Given the description of an element on the screen output the (x, y) to click on. 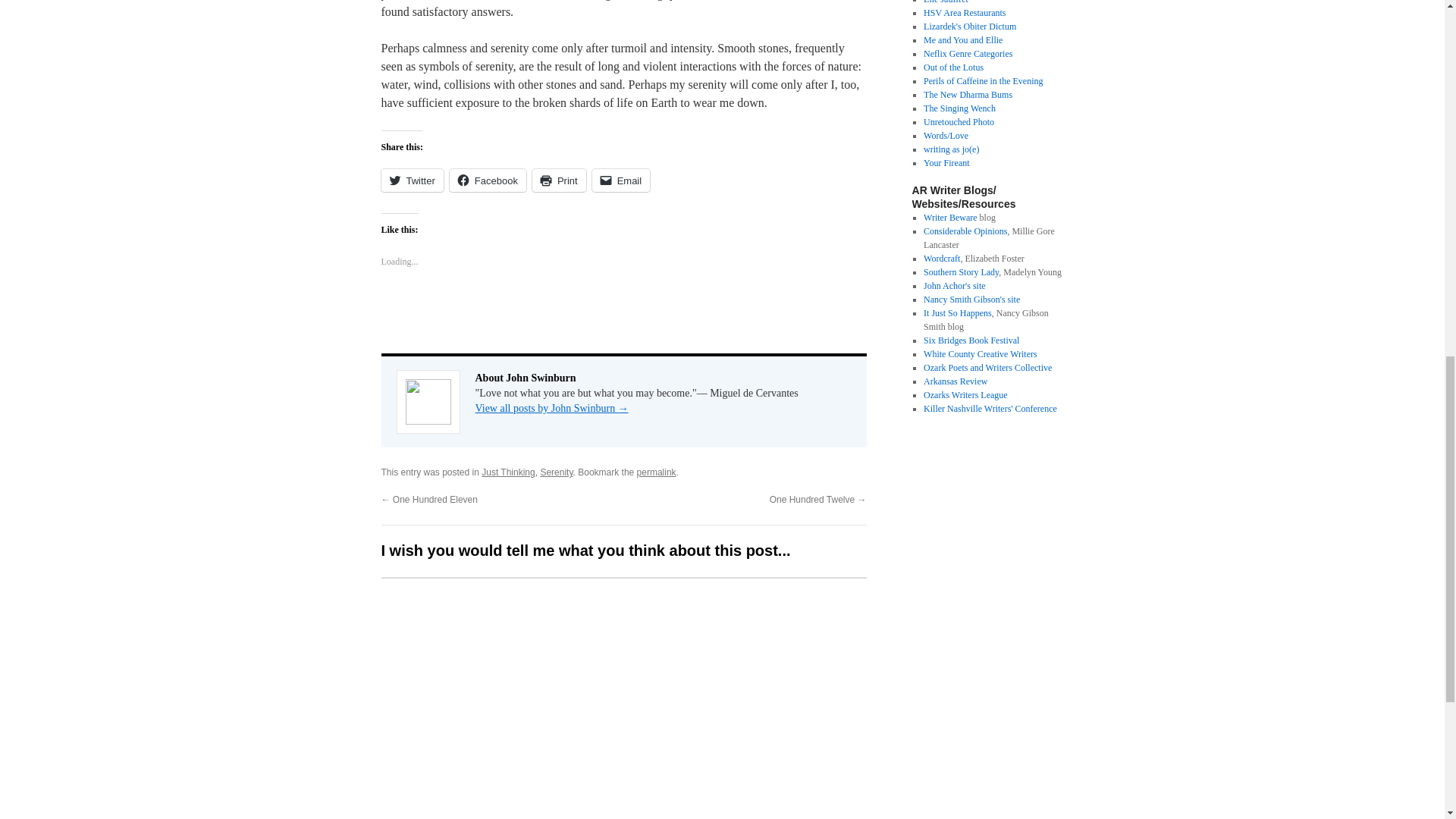
HSV Area Restaurants (964, 12)
Twitter (411, 179)
Click to share on Facebook (487, 179)
Permalink to Serenity, Interpreted (657, 471)
permalink (657, 471)
Serenity (556, 471)
Just Thinking (507, 471)
Click to print (559, 179)
Print (559, 179)
Email (621, 179)
